Given the description of an element on the screen output the (x, y) to click on. 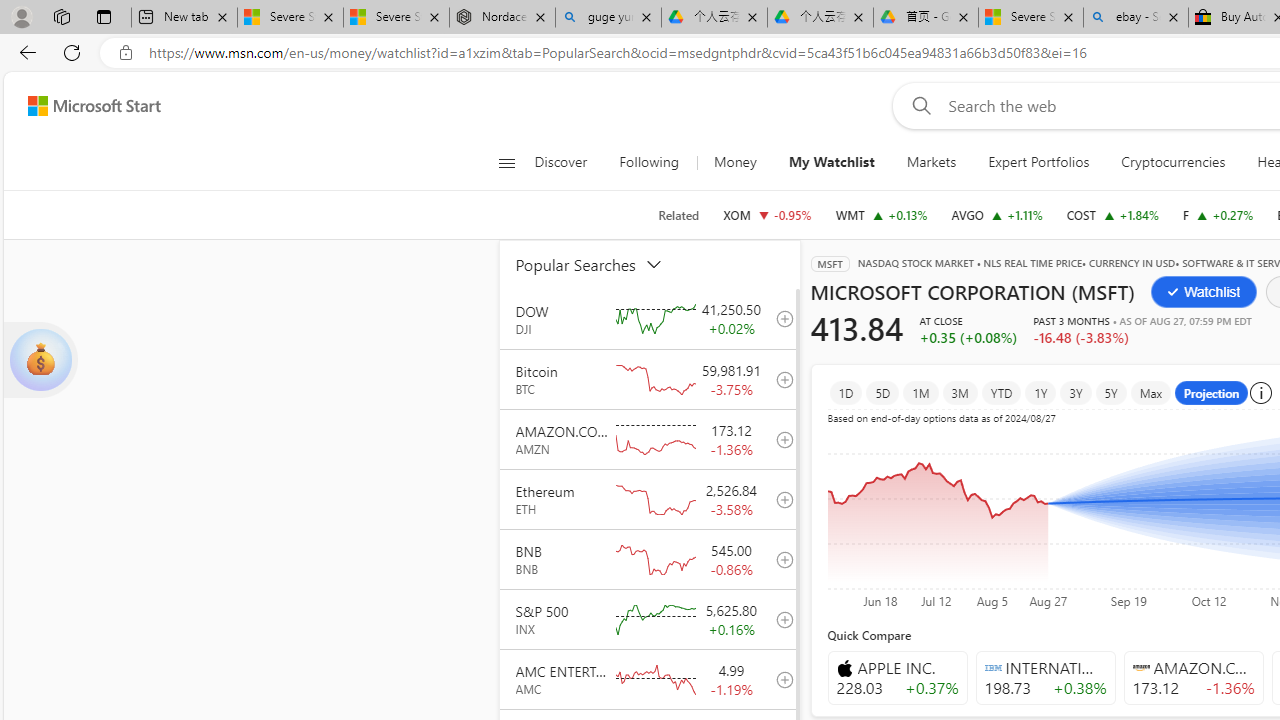
My Watchlist (830, 162)
My Watchlist (831, 162)
5Y (1110, 392)
Popular Searches (601, 264)
Class: autoSuggestIcon-DS-EntryPoint1-2 (1140, 667)
Skip to footer (82, 105)
AVGO Broadcom Inc. increase 161.39 +1.77 +1.11% (996, 214)
Markets (931, 162)
F FORD MOTOR COMPANY increase 11.14 +0.03 +0.27% (1218, 214)
